Given the description of an element on the screen output the (x, y) to click on. 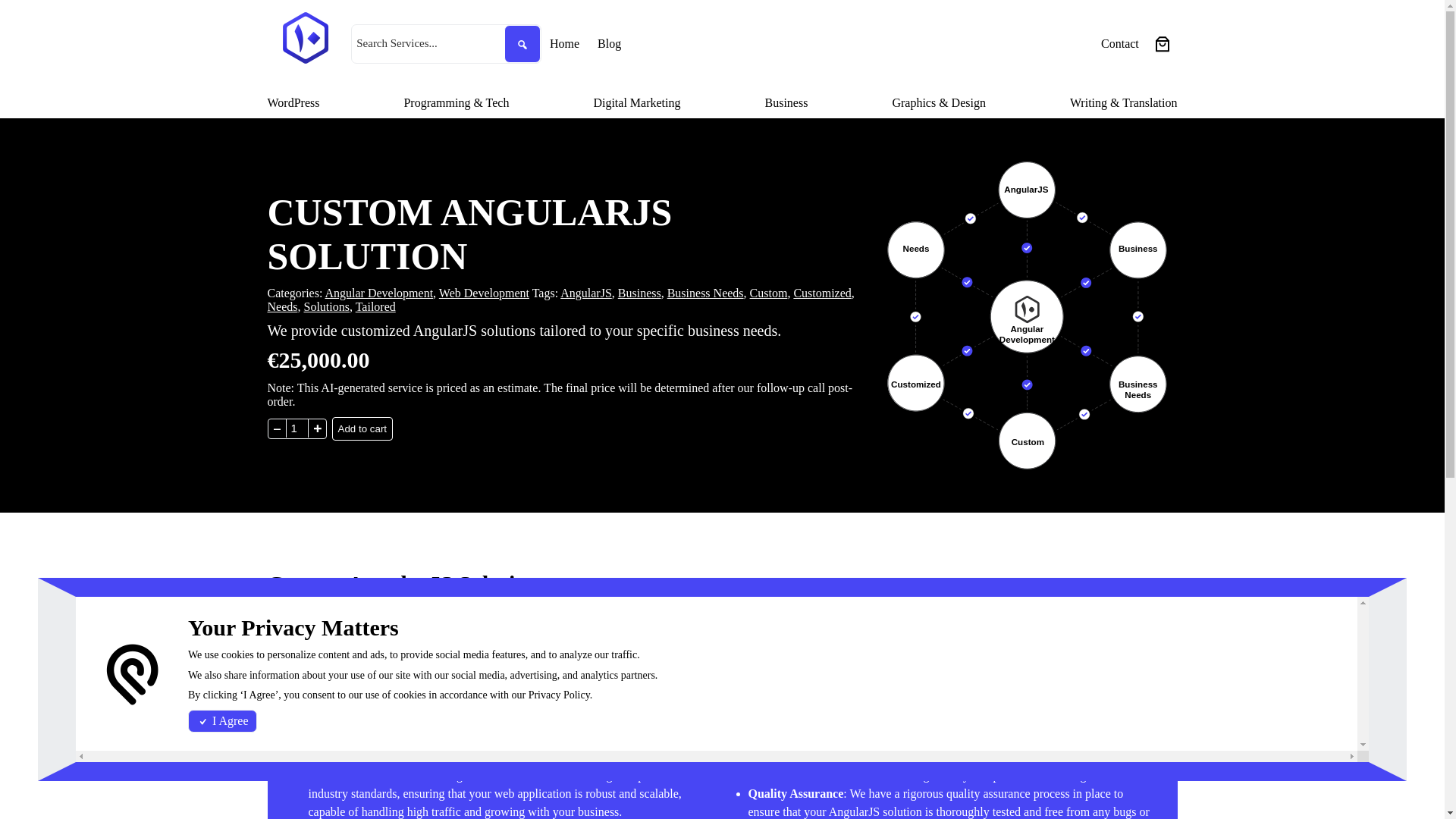
Angular Development (378, 292)
Blog (608, 44)
Home (564, 44)
Contact (1119, 44)
Solutions (325, 306)
Needs (281, 306)
Web Development (484, 292)
1 (296, 428)
Custom (768, 292)
AngularJS (585, 292)
